Given the description of an element on the screen output the (x, y) to click on. 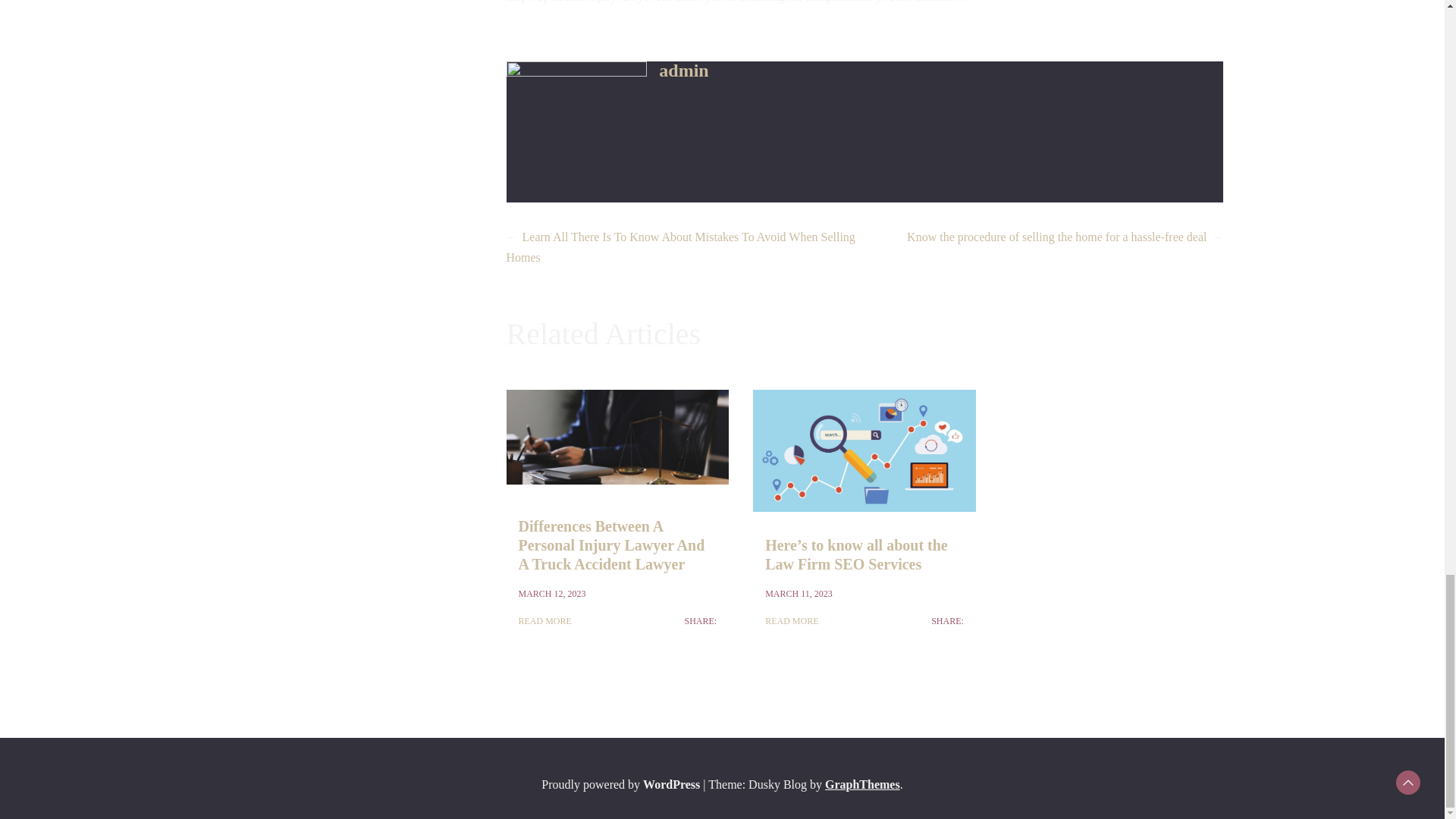
MARCH 12, 2023 (552, 593)
admin (683, 70)
READ MORE (791, 620)
MARCH 11, 2023 (798, 593)
READ MORE (545, 620)
